Given the description of an element on the screen output the (x, y) to click on. 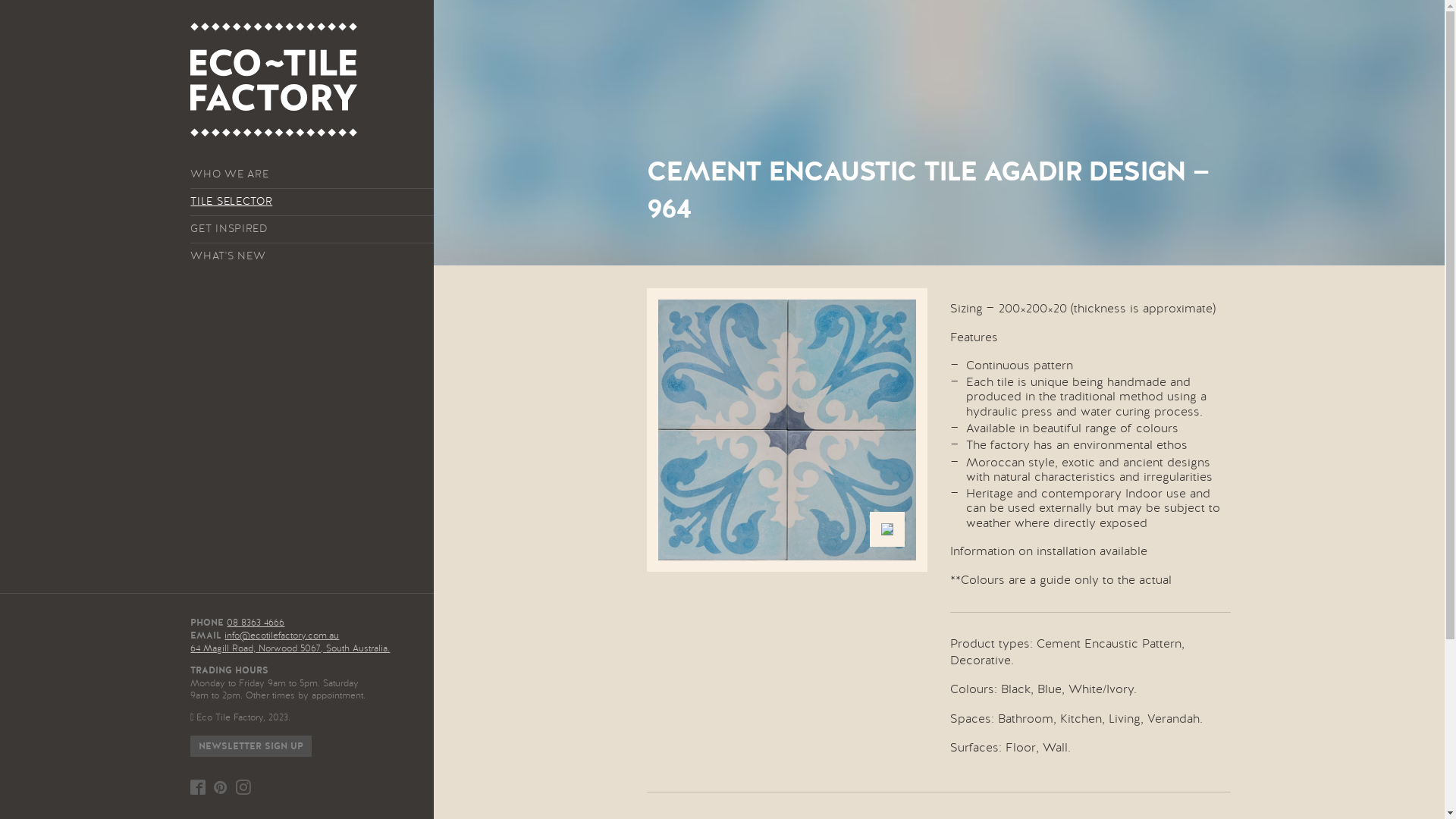
info@ecotilefactory.com.au Element type: text (281, 635)
Eco Tile Factory Pinterest page. Element type: hover (220, 786)
Eco Tile Factory Instagram page. Element type: hover (243, 786)
WHO WE ARE Element type: text (311, 174)
WHAT'S NEW Element type: text (311, 256)
Eco Tile Factory Facebook page. Element type: hover (197, 786)
Newsletter Sign Up Element type: text (250, 745)
GET INSPIRED Element type: text (311, 229)
64 Magill Road, Norwood 5067, South Australia. Element type: text (289, 648)
08 8363 4666 Element type: text (255, 622)
TILE SELECTOR Element type: text (311, 201)
